Given the description of an element on the screen output the (x, y) to click on. 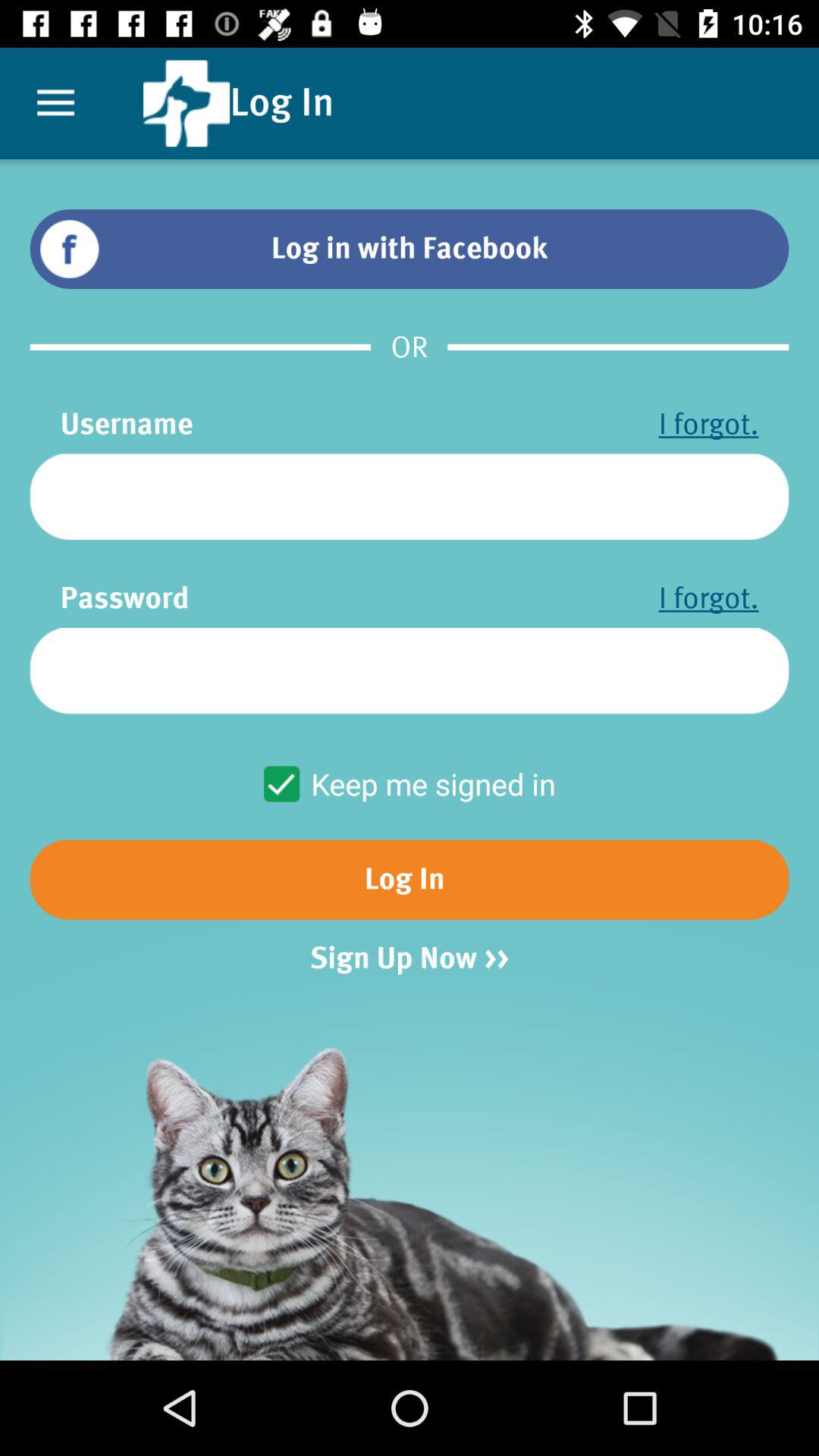
choose keep me signed item (408, 783)
